Given the description of an element on the screen output the (x, y) to click on. 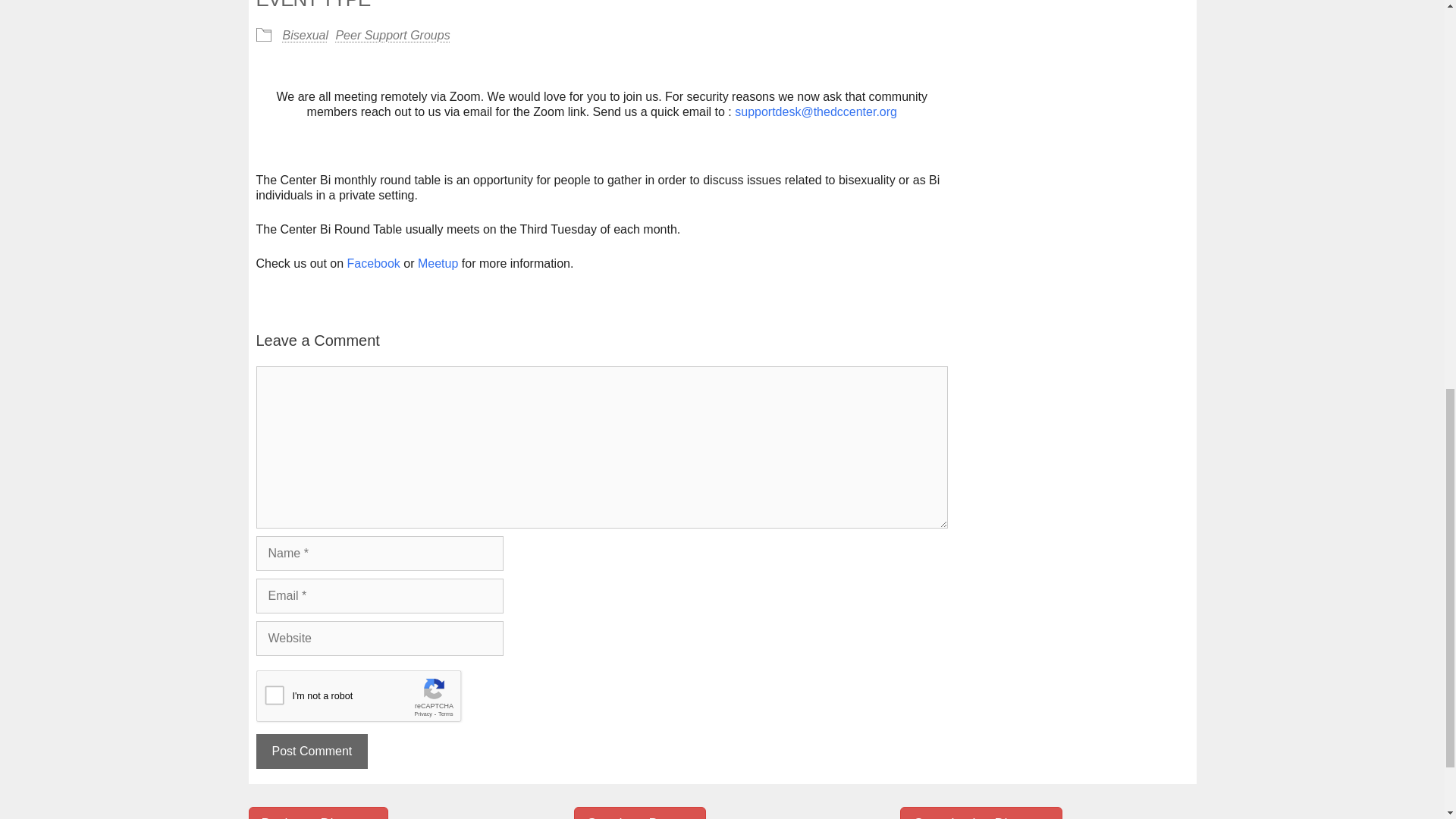
reCAPTCHA (371, 699)
Scroll back to top (1406, 720)
Post Comment (312, 751)
